Given the description of an element on the screen output the (x, y) to click on. 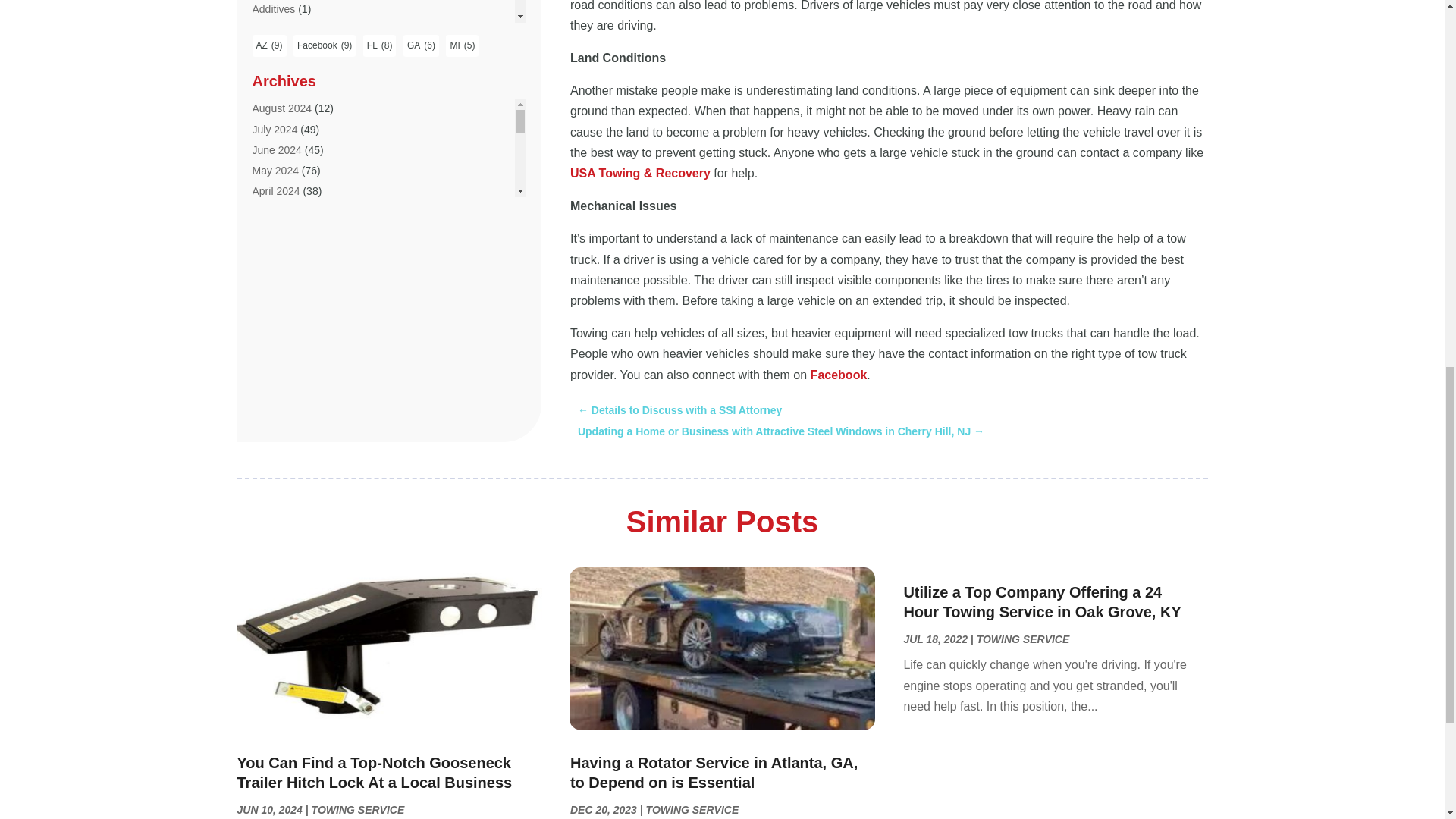
Animal Hospital (287, 421)
Aluminum Supplier (295, 379)
Aerospace (276, 111)
Air Distribution (285, 215)
Alarm Systems (287, 318)
Airport Shuttle Service (303, 297)
Aluminum (274, 358)
Adhesives (276, 29)
Advertising And Marketing (313, 91)
Animal Removal (290, 441)
